Given the description of an element on the screen output the (x, y) to click on. 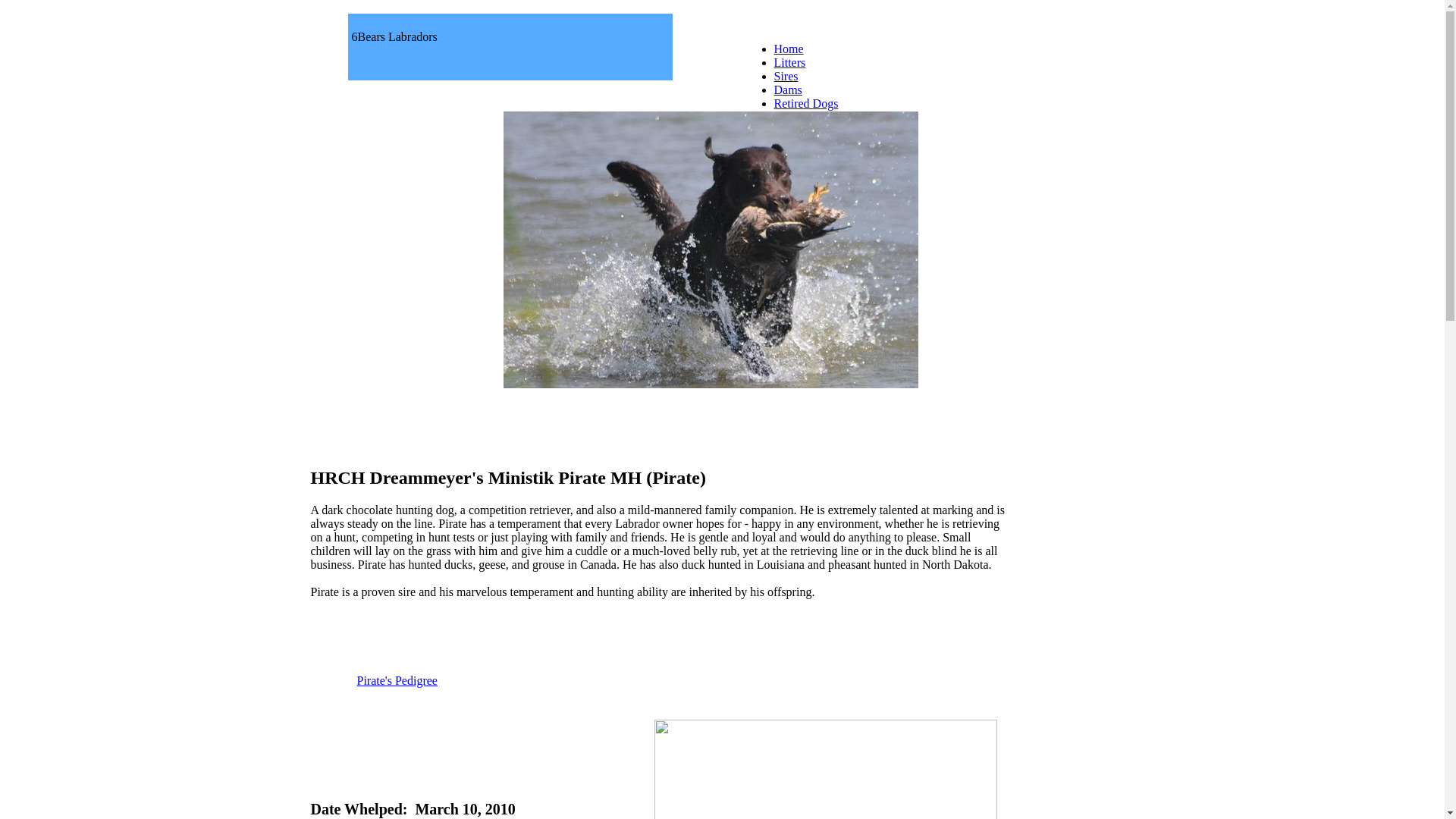
Sires Element type: text (785, 75)
Training Element type: text (794, 144)
Pirate's Pedigree Element type: text (396, 680)
Contact Us Element type: text (800, 130)
Retired Dogs Element type: text (805, 103)
Litters Element type: text (789, 62)
In Memory Element type: text (800, 116)
Home Element type: text (788, 48)
Dams Element type: text (787, 89)
